Given the description of an element on the screen output the (x, y) to click on. 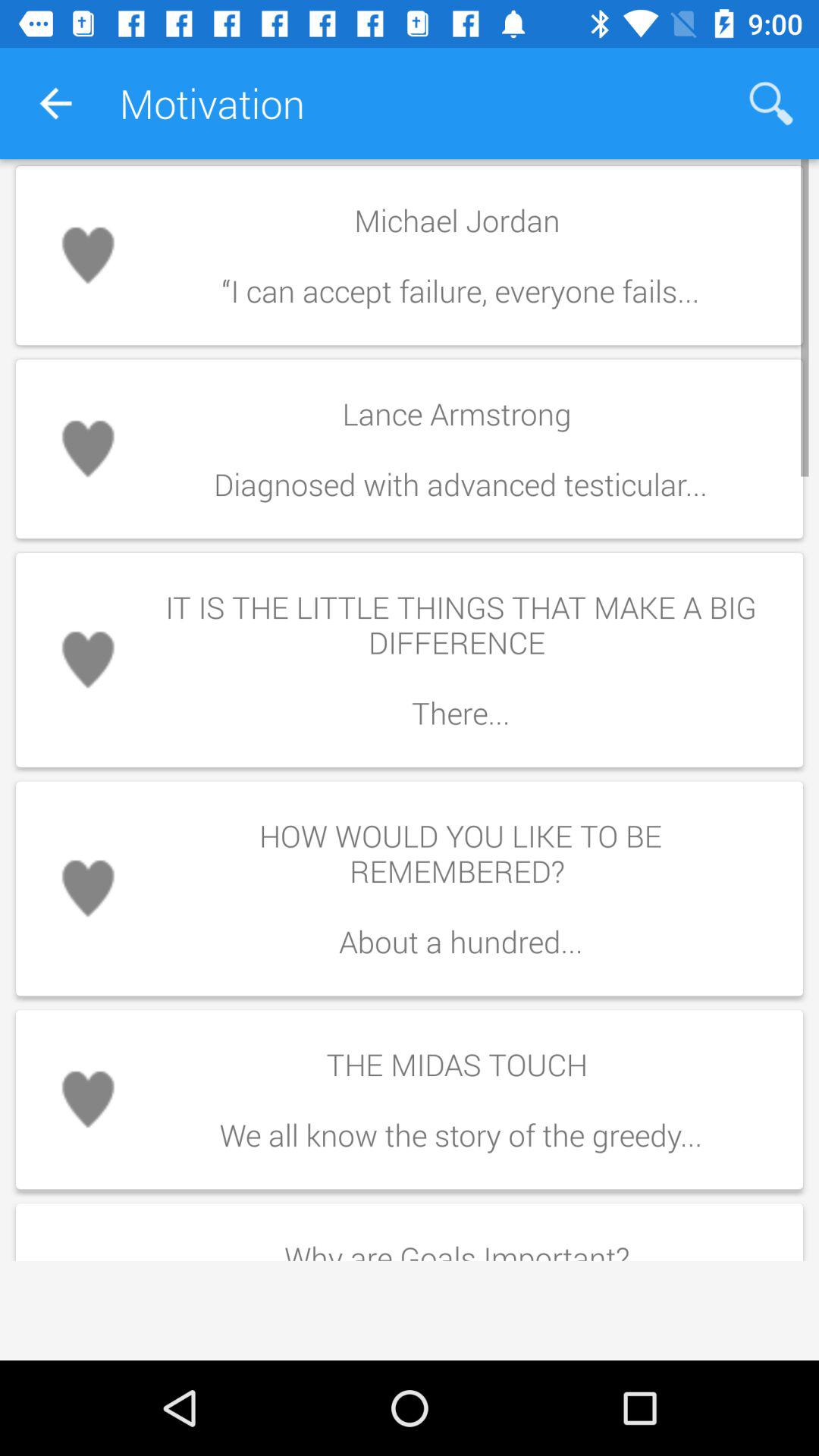
choose icon above michael jordan  icon (771, 103)
